Given the description of an element on the screen output the (x, y) to click on. 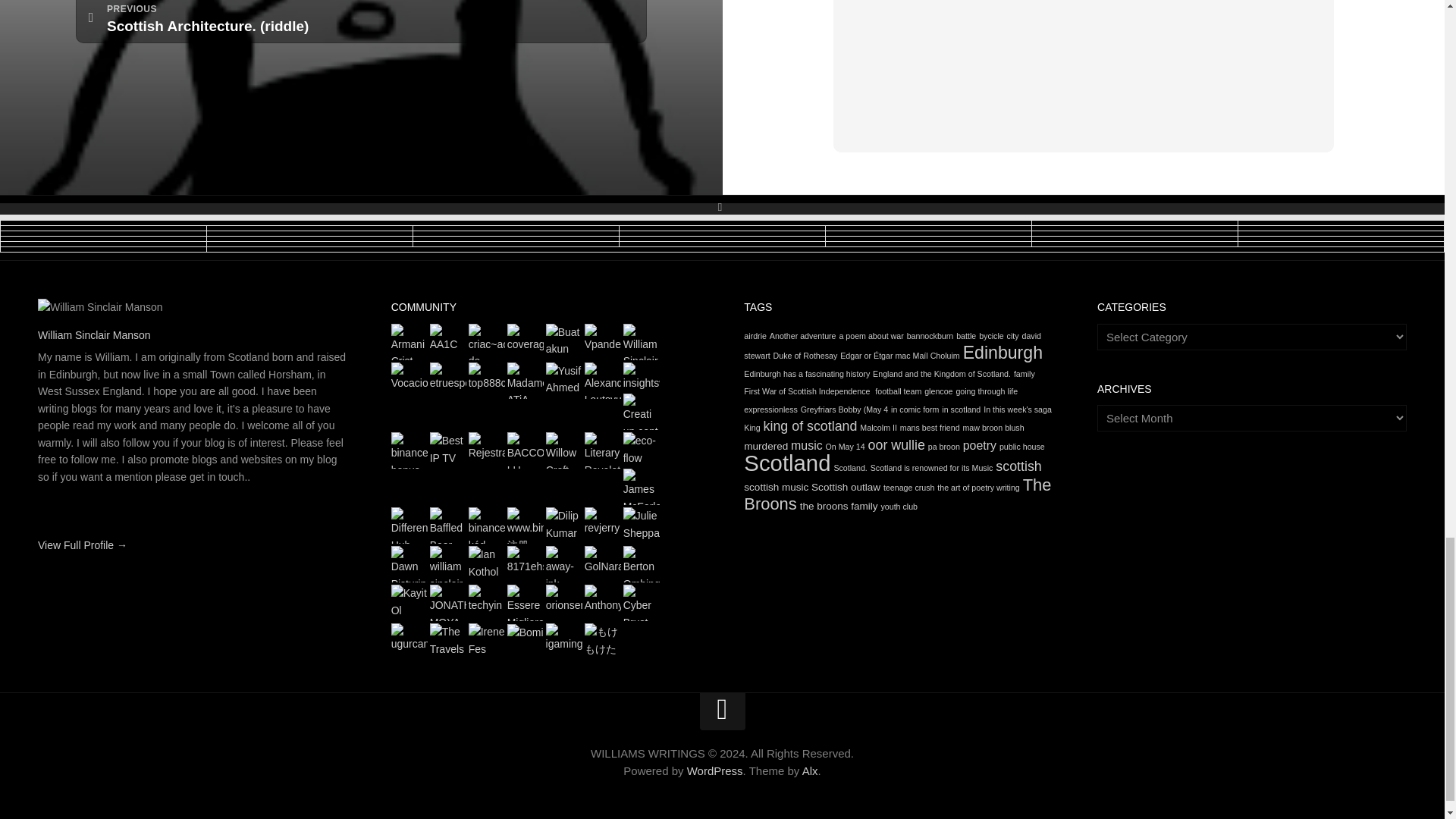
Comment Form (1083, 66)
